Given the description of an element on the screen output the (x, y) to click on. 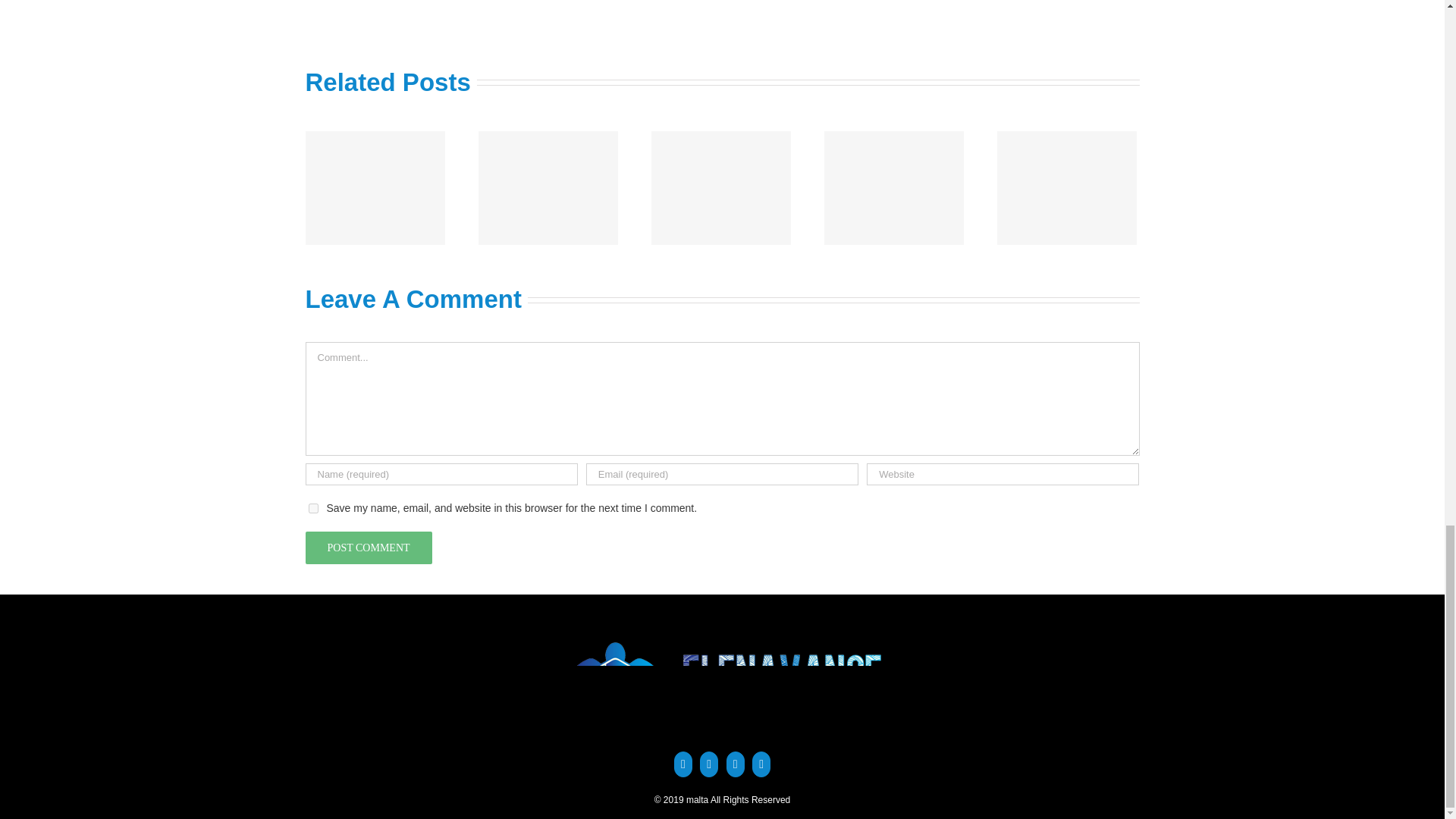
Post Comment (367, 547)
Post Comment (367, 547)
yes (312, 508)
